Given the description of an element on the screen output the (x, y) to click on. 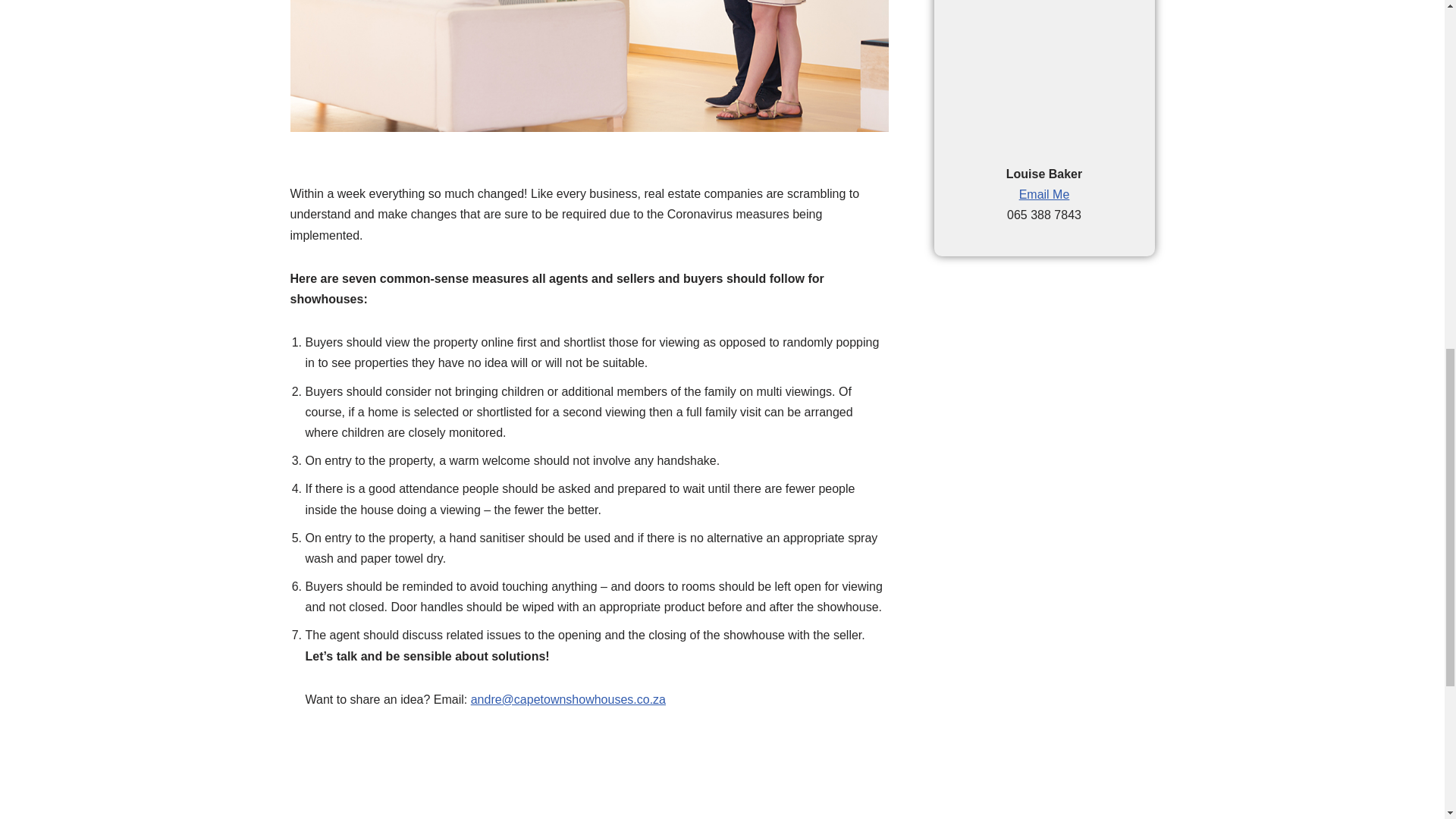
Email Me (1044, 194)
